Given the description of an element on the screen output the (x, y) to click on. 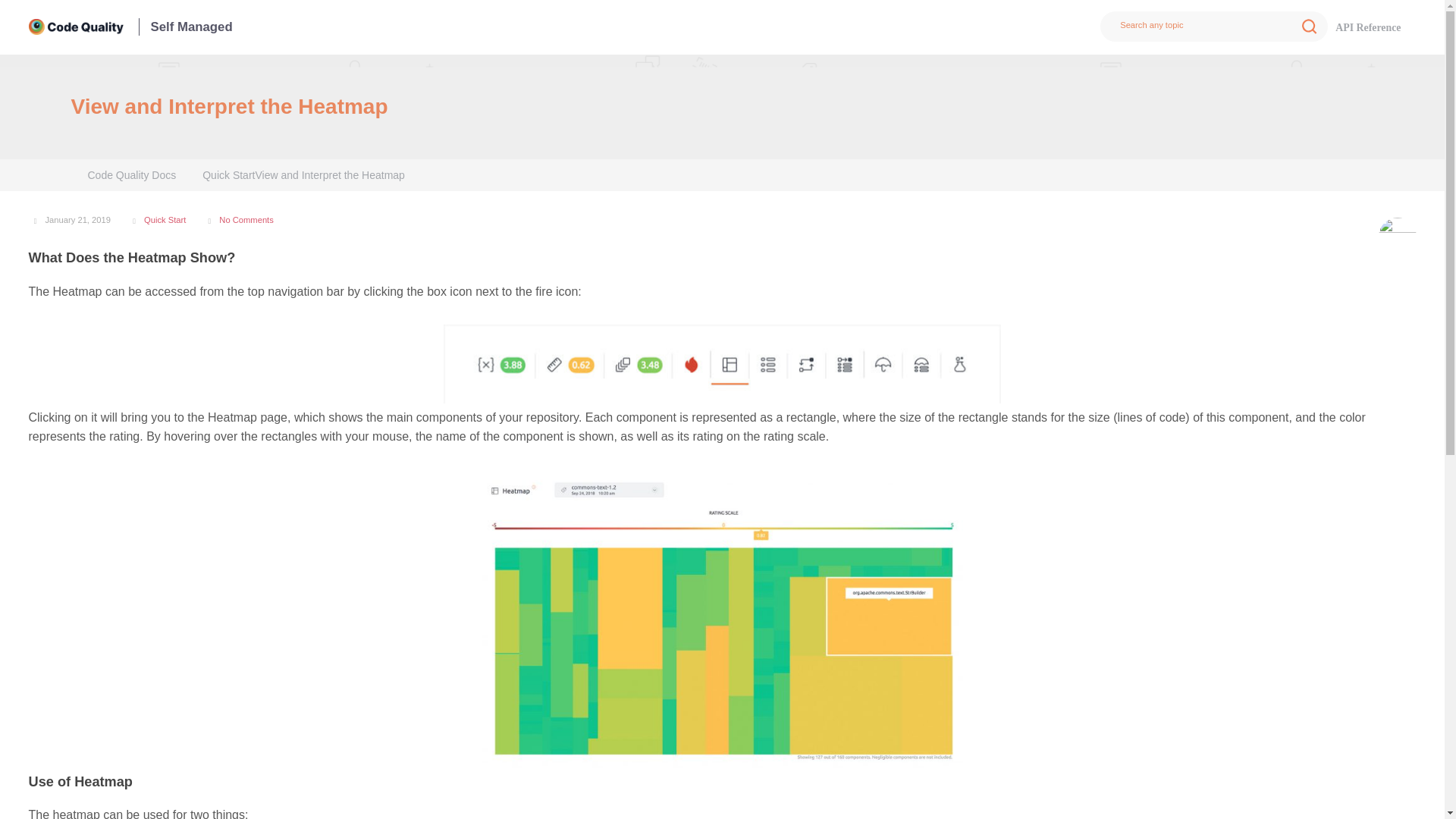
Quick Start (228, 174)
API Reference (1367, 27)
Code Quality Docs (131, 174)
Code Quality Docs (131, 174)
Self Managed (184, 27)
No Comments (246, 219)
Quick Start (165, 219)
